Given the description of an element on the screen output the (x, y) to click on. 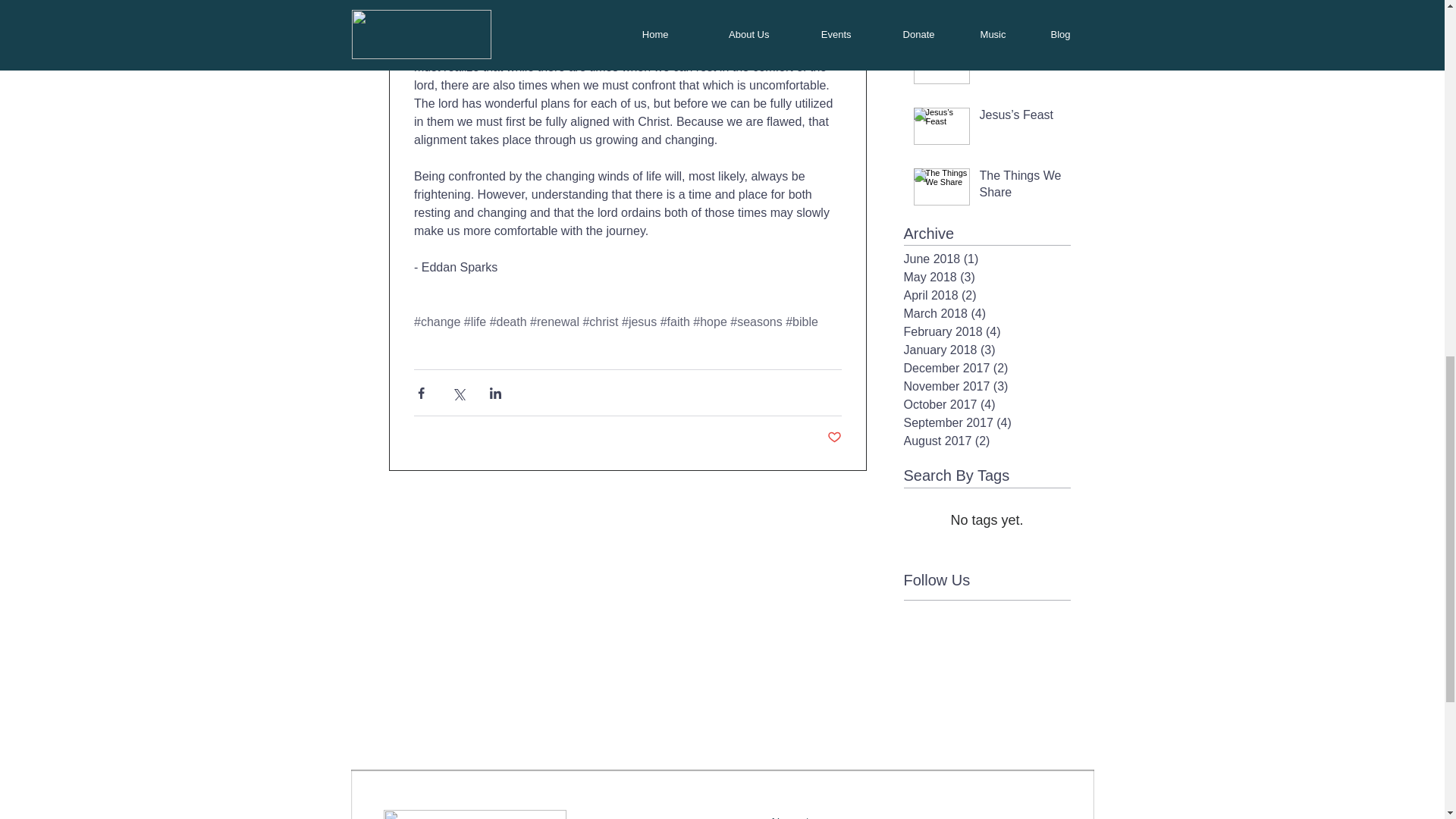
The Things We Share (1020, 187)
Teacher (1020, 51)
Post not marked as liked (834, 437)
Do You Want to Get Well? (1020, 10)
